Given the description of an element on the screen output the (x, y) to click on. 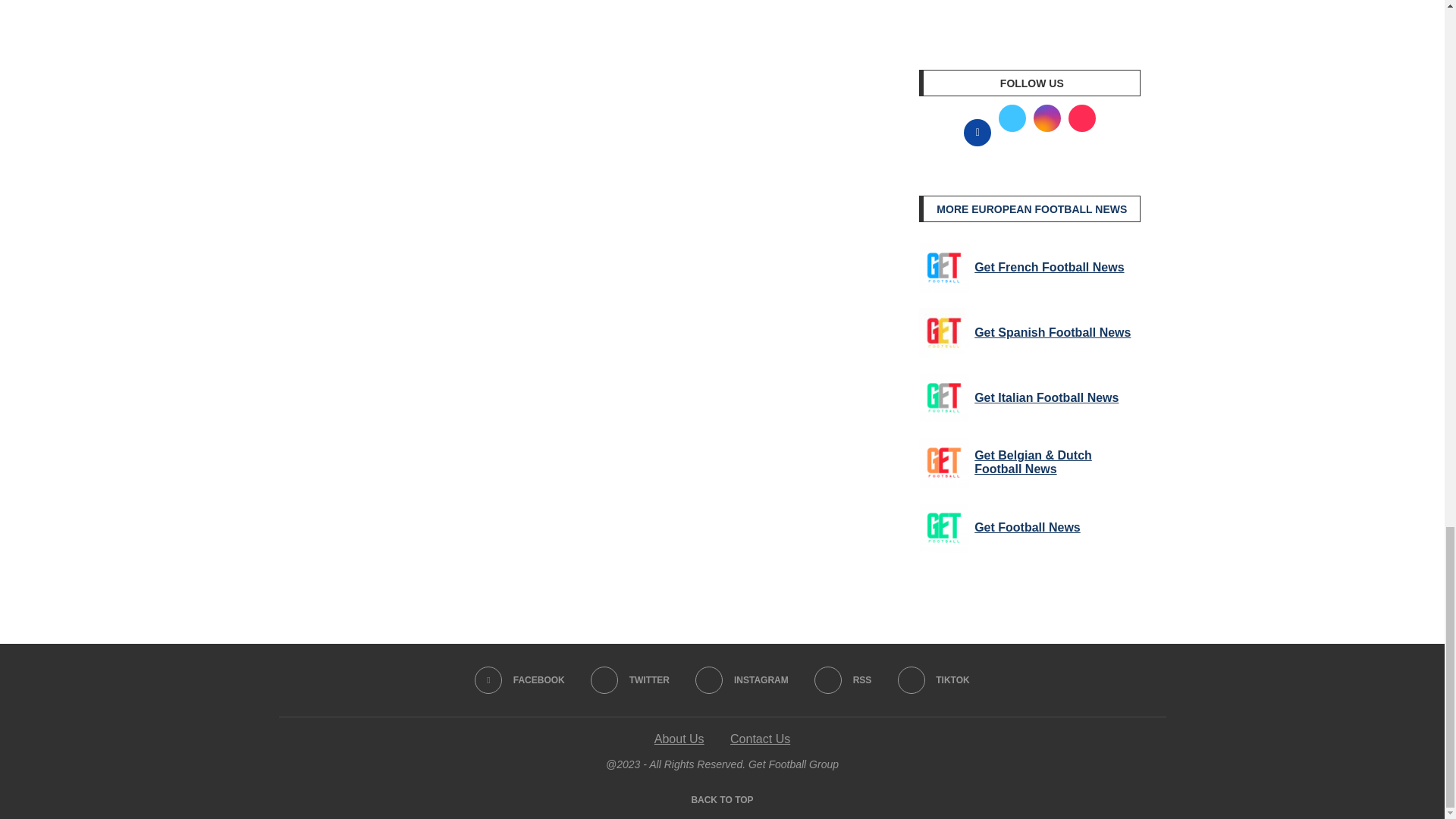
Get Italian Football News (943, 398)
Get Spanish Football News (943, 332)
Get Football News (943, 527)
Get French Football News (943, 267)
